Given the description of an element on the screen output the (x, y) to click on. 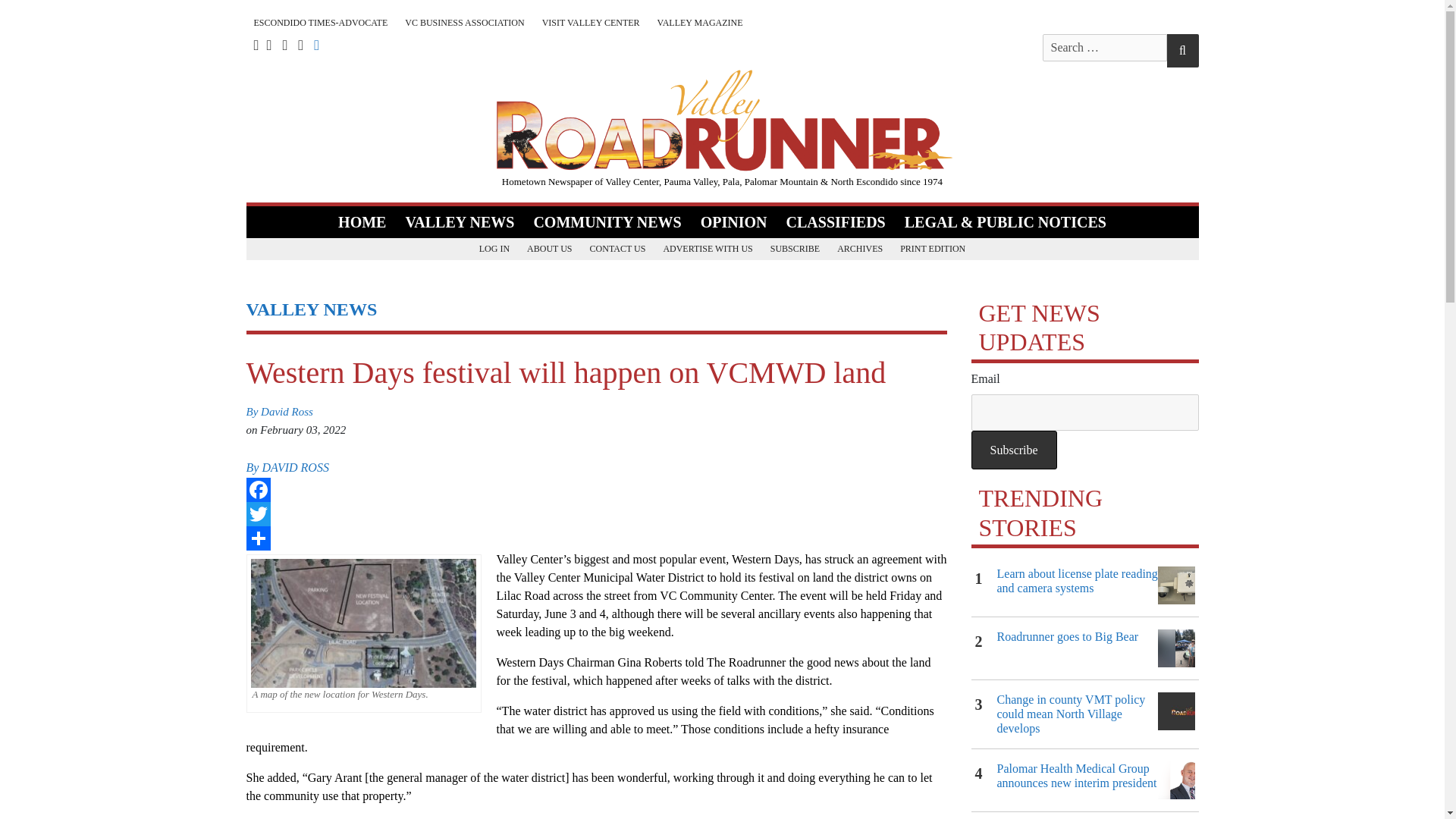
Facebook (596, 489)
Subscribe (1014, 450)
Twitter (596, 514)
